Given the description of an element on the screen output the (x, y) to click on. 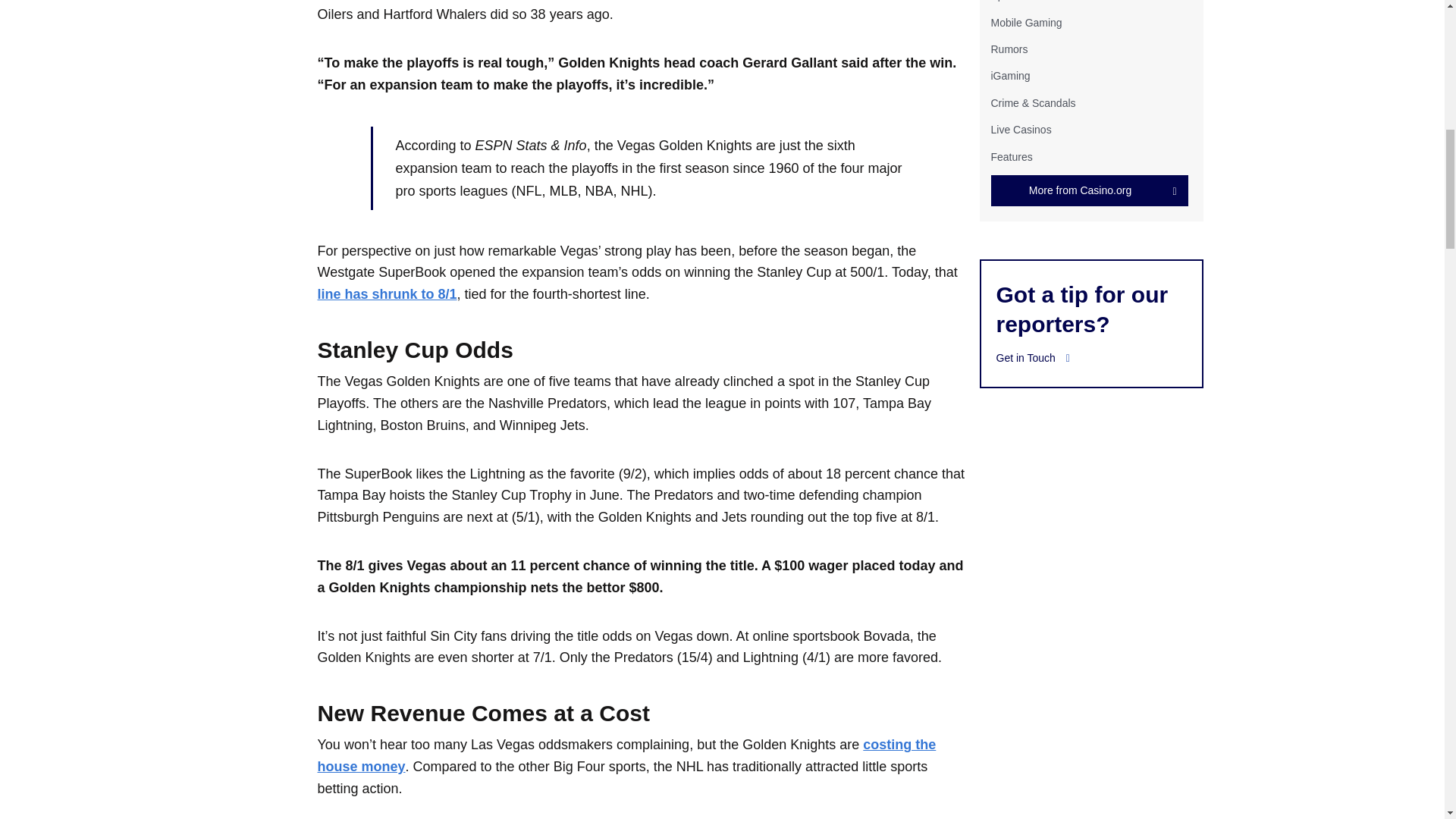
Mobile Gaming (1025, 22)
costing the house money (626, 755)
Sports (1005, 0)
Sports (1005, 0)
Rumors (1008, 49)
Mobile Gaming (1025, 22)
Live Casinos (1020, 129)
Features (1011, 155)
Rumors (1008, 49)
iGaming (1009, 75)
